Given the description of an element on the screen output the (x, y) to click on. 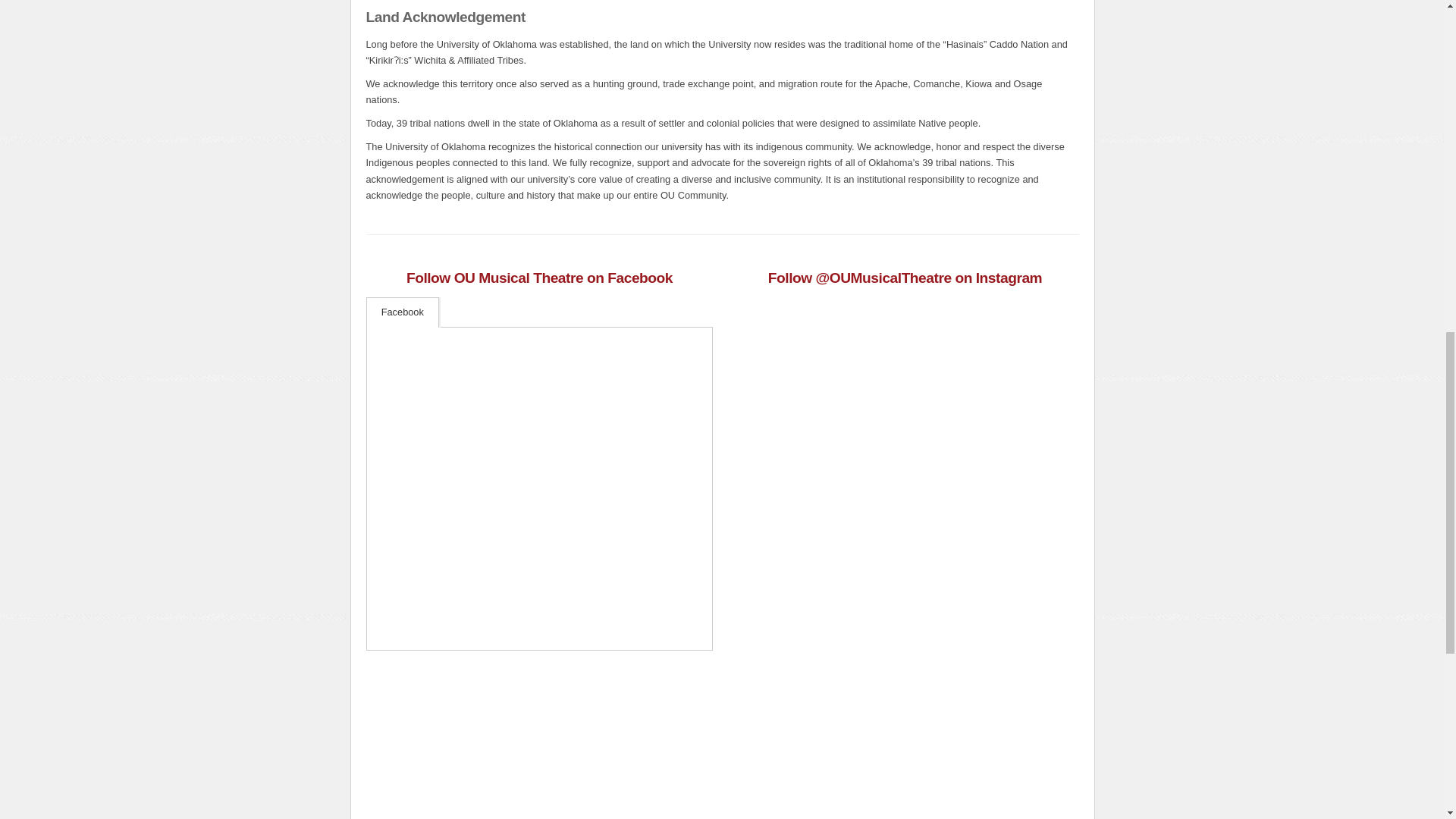
Facebook (402, 312)
Follow OU Musical Theatre on Facebook (539, 277)
